Given the description of an element on the screen output the (x, y) to click on. 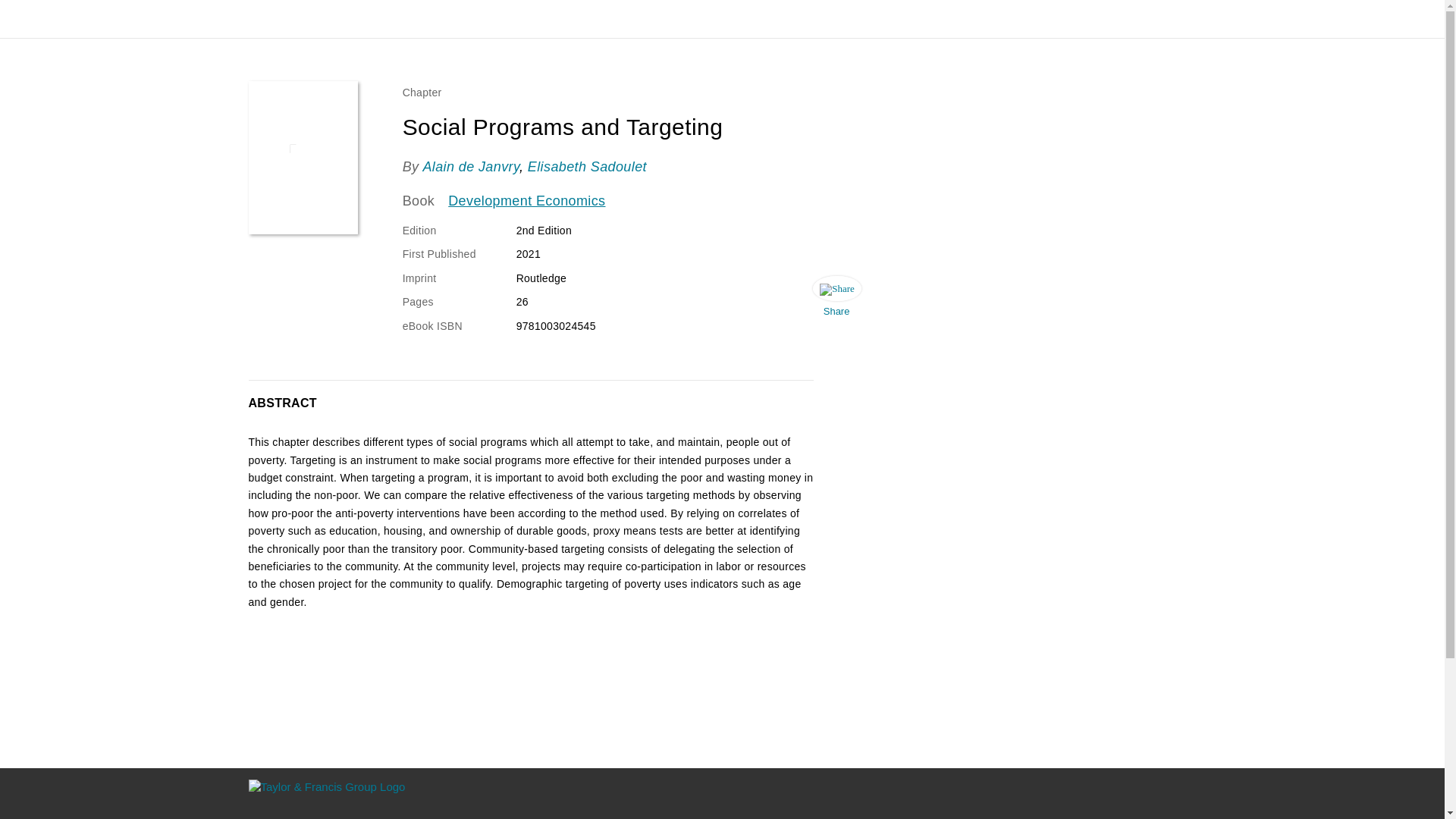
Elisabeth Sadoulet (586, 166)
Development Economics (526, 201)
Alain de Janvry (470, 166)
Share (836, 299)
